Given the description of an element on the screen output the (x, y) to click on. 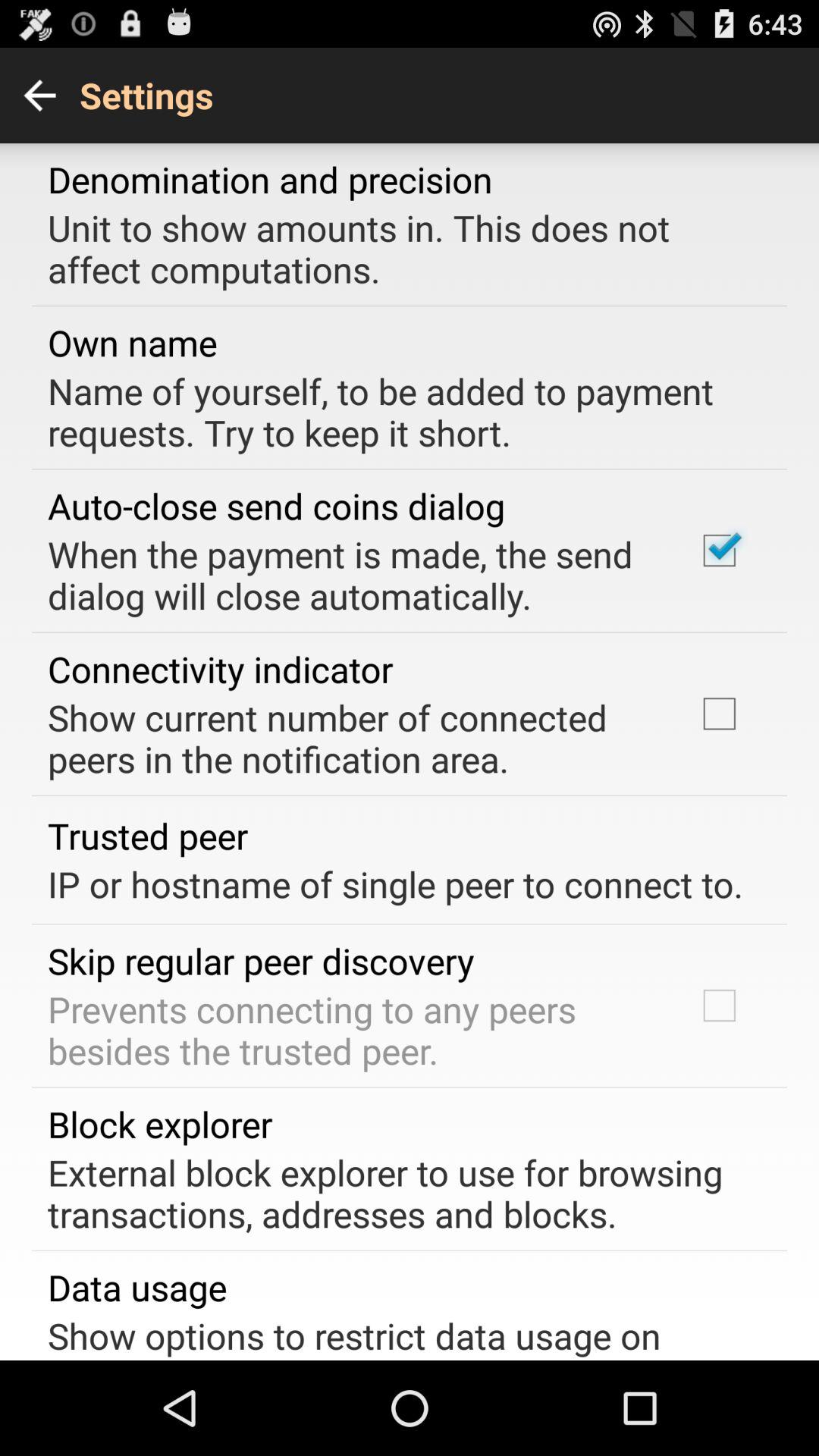
tap icon above unit to show app (269, 179)
